Given the description of an element on the screen output the (x, y) to click on. 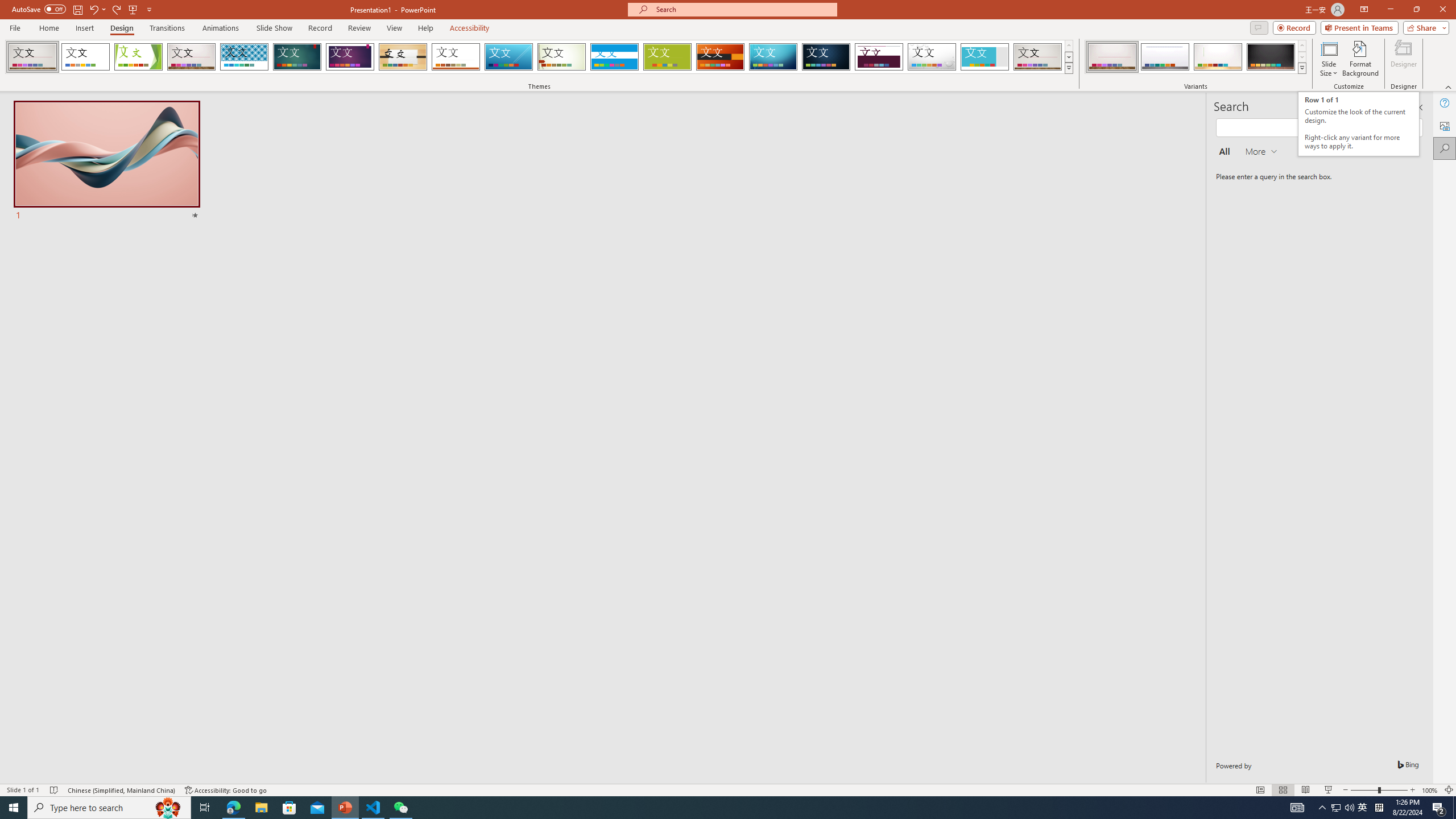
Berlin (720, 56)
Wisp (561, 56)
